Given the description of an element on the screen output the (x, y) to click on. 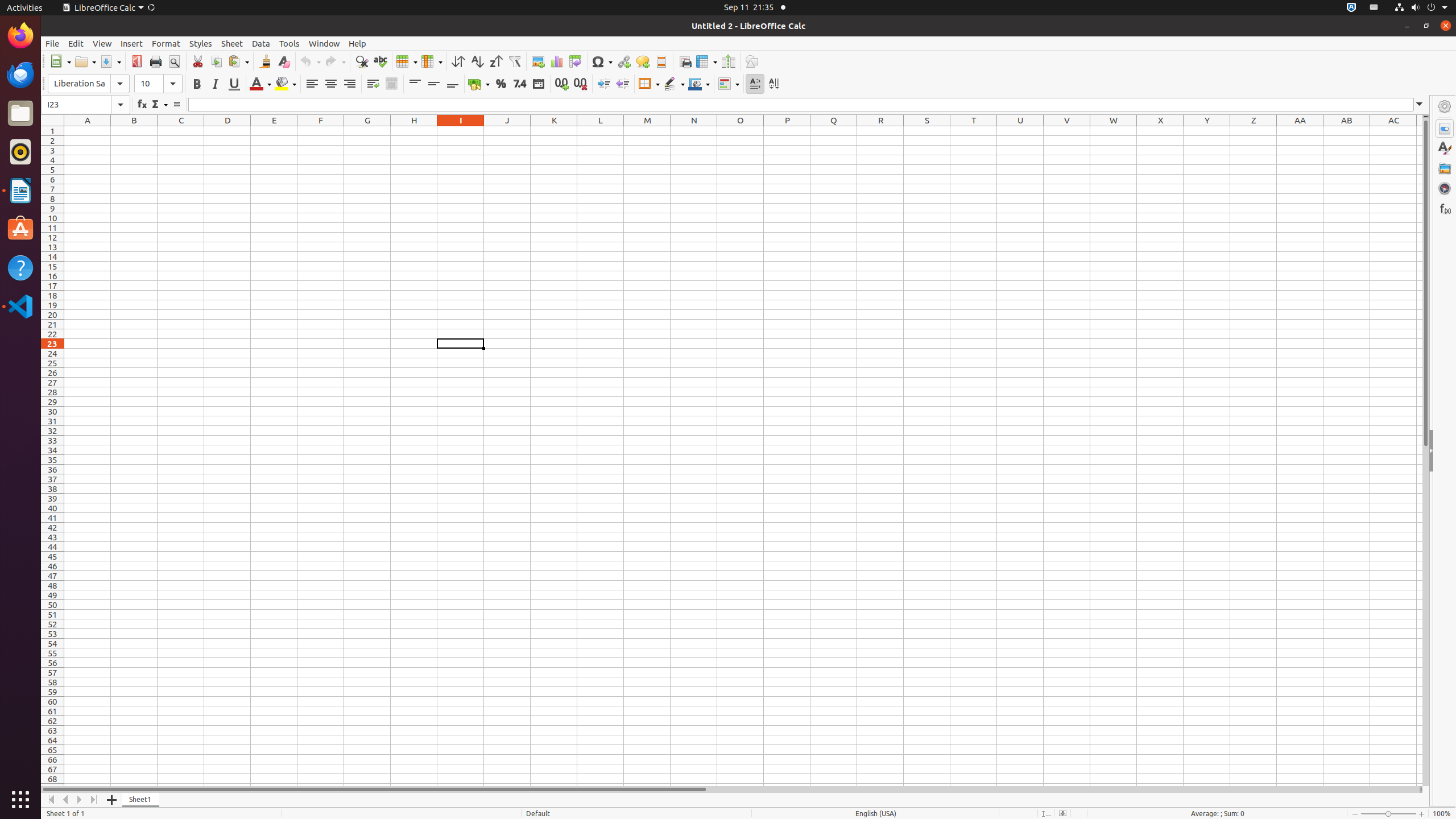
U1 Element type: table-cell (1020, 130)
Formatting Element type: tool-bar (412, 83)
Border Style Element type: push-button (673, 83)
